Given the description of an element on the screen output the (x, y) to click on. 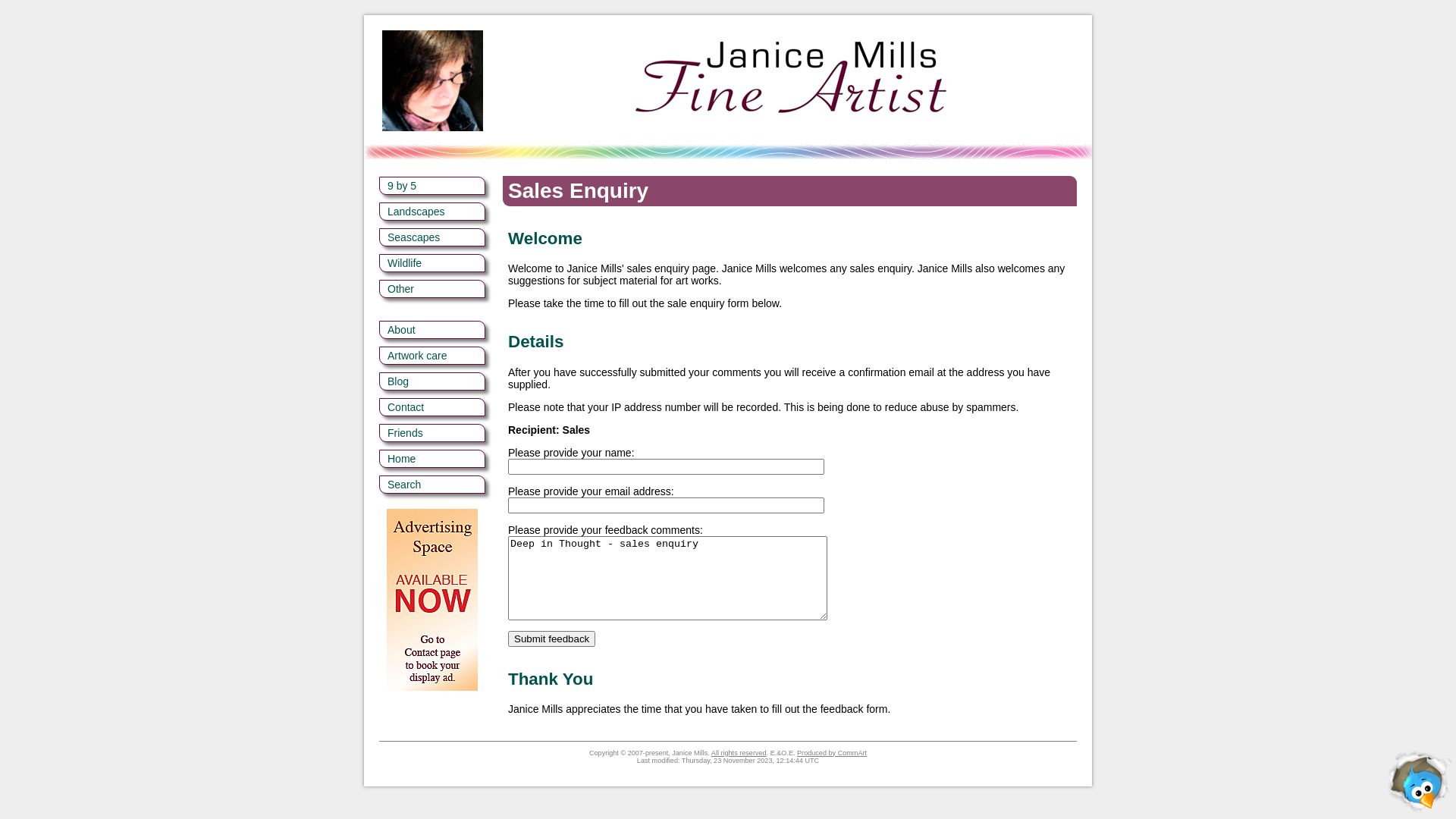
9 by 5 Element type: text (431, 185)
All rights reserved Element type: text (738, 752)
Blog Element type: text (431, 381)
Home Element type: text (431, 458)
Contact Element type: text (431, 406)
portrait Element type: hover (432, 80)
About Element type: text (431, 329)
Search Element type: text (431, 484)
Friends Element type: text (431, 432)
Produced by CommArt Element type: text (831, 752)
Artwork care Element type: text (431, 355)
Submit feedback Element type: text (551, 638)
Go to the Janice Mills home page Element type: hover (791, 80)
Go to the Janice Mills home page Element type: hover (791, 127)
Wildlife Element type: text (431, 262)
Landscapes Element type: text (431, 211)
Seascapes Element type: text (431, 237)
Other Element type: text (431, 288)
Rent this space Element type: hover (431, 599)
Rent this space Element type: hover (431, 595)
